Given the description of an element on the screen output the (x, y) to click on. 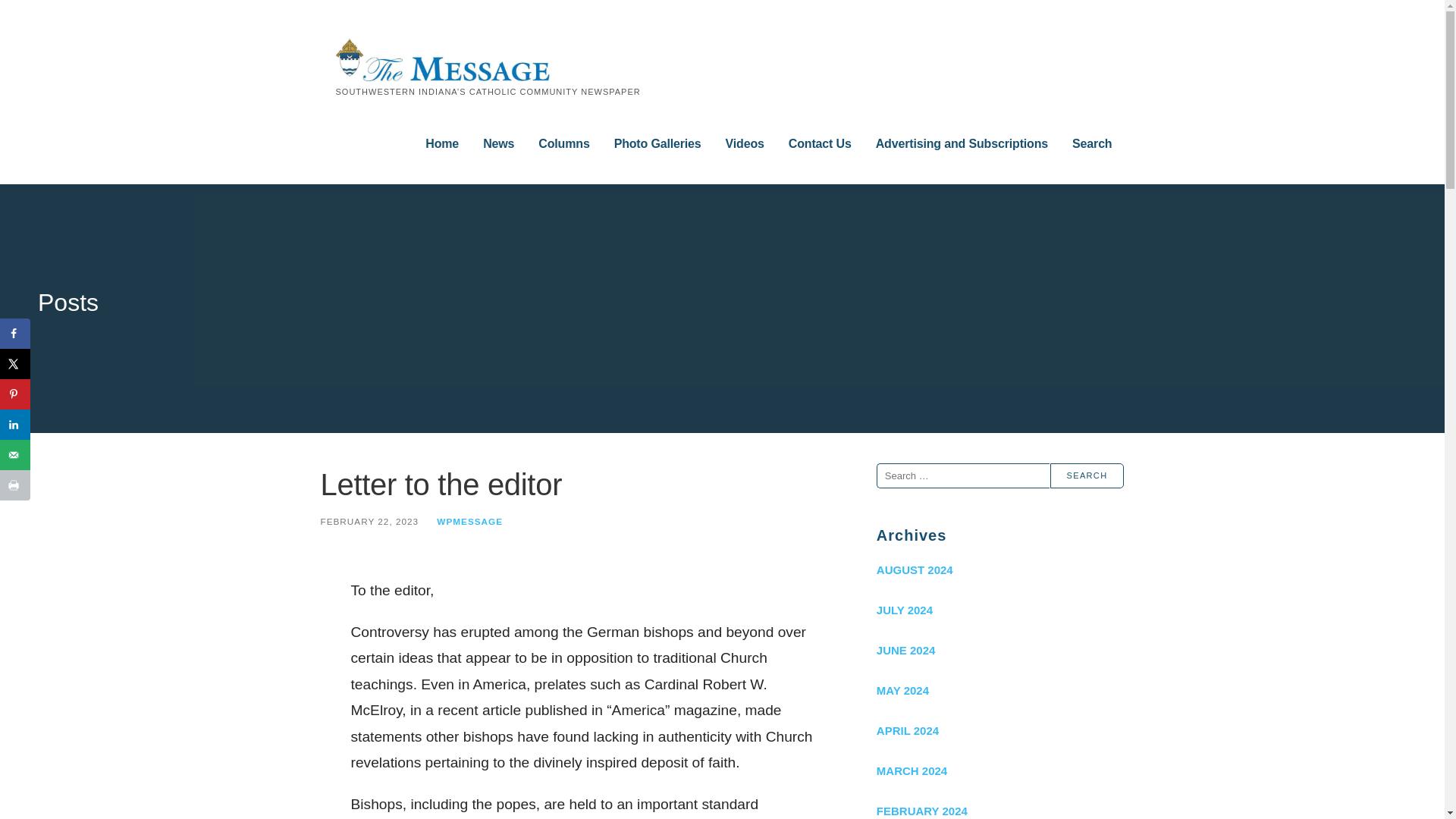
Videos (744, 144)
Send over email (15, 454)
Search (1091, 144)
Advertising and Subscriptions (962, 144)
Search (1086, 475)
Contact Us (820, 144)
Print this webpage (15, 485)
Save to Pinterest (15, 394)
News (498, 144)
Share on LinkedIn (15, 424)
